Given the description of an element on the screen output the (x, y) to click on. 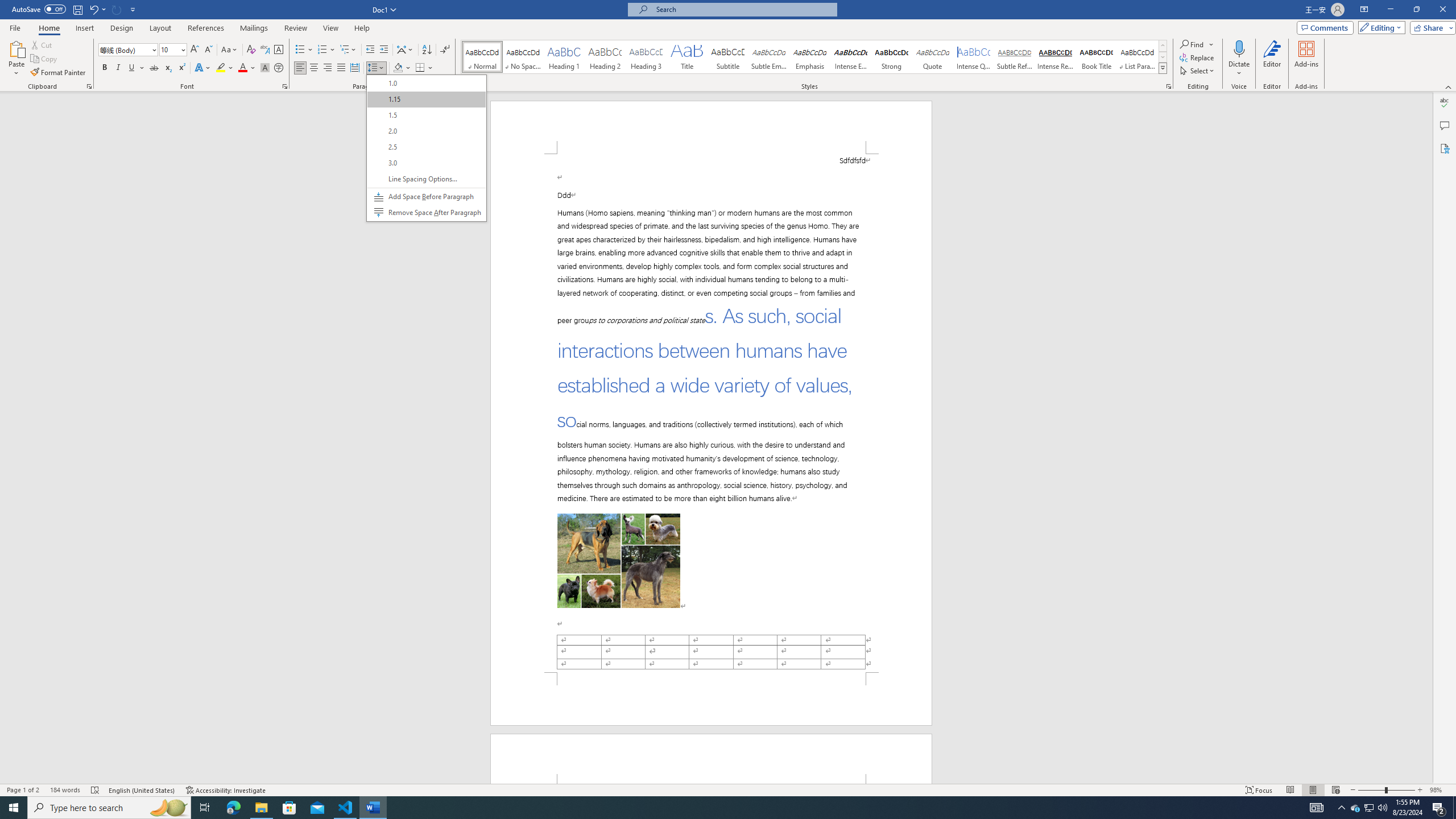
Change Case (229, 49)
Type here to search (108, 807)
Heading 3 (646, 56)
Decrease Indent (370, 49)
Font... (285, 85)
Shading (402, 67)
Copy (45, 58)
User Promoted Notification Area (1368, 807)
